Given the description of an element on the screen output the (x, y) to click on. 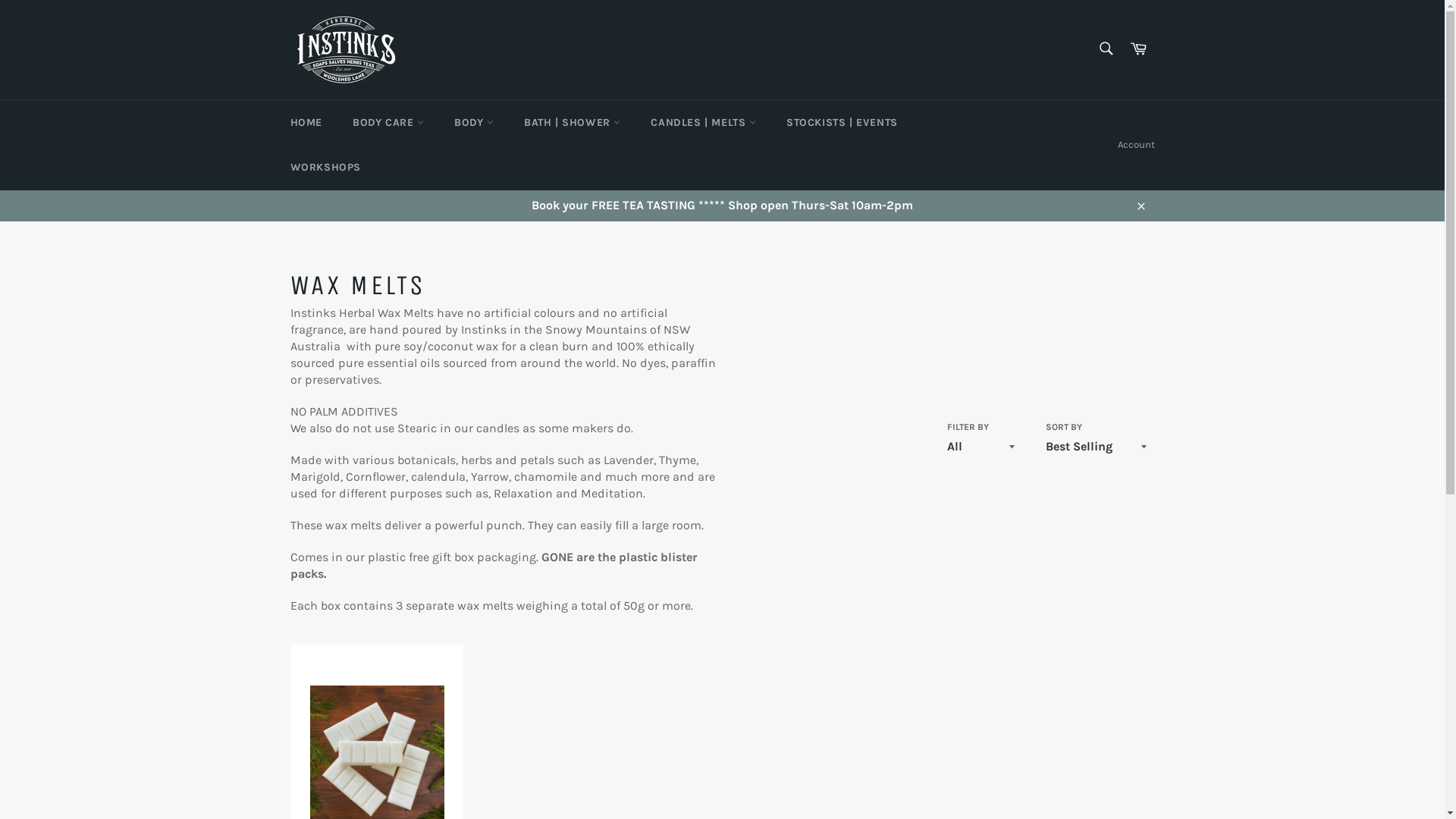
Cart Element type: text (1138, 49)
STOCKISTS | EVENTS Element type: text (842, 122)
BODY CARE Element type: text (388, 122)
Account Element type: text (1136, 144)
WORKSHOPS Element type: text (324, 166)
Close Element type: text (1139, 205)
HOME Element type: text (305, 122)
CANDLES | MELTS Element type: text (703, 122)
BODY Element type: text (473, 122)
Search Element type: text (1105, 48)
BATH | SHOWER Element type: text (571, 122)
